Given the description of an element on the screen output the (x, y) to click on. 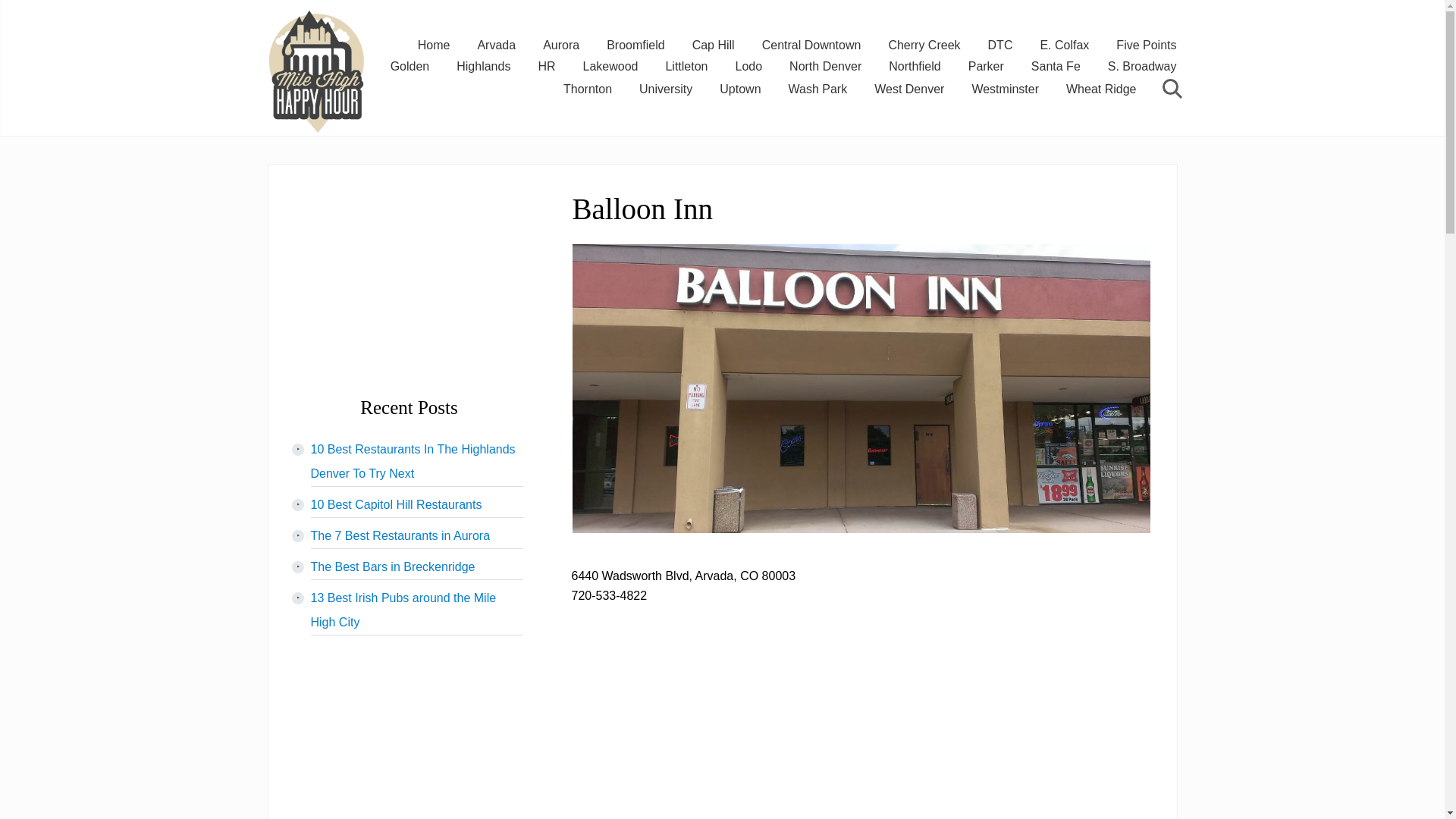
Broomfield CO Happy Hours (635, 45)
Lakewood (609, 66)
Highlands (483, 66)
Littleton (685, 66)
Broomfield (635, 45)
Highlands Denver Happy Hours (483, 66)
Westminster (1005, 88)
Home (434, 45)
Five Points (1145, 45)
Aurora CO Happy Hours (561, 45)
